Given the description of an element on the screen output the (x, y) to click on. 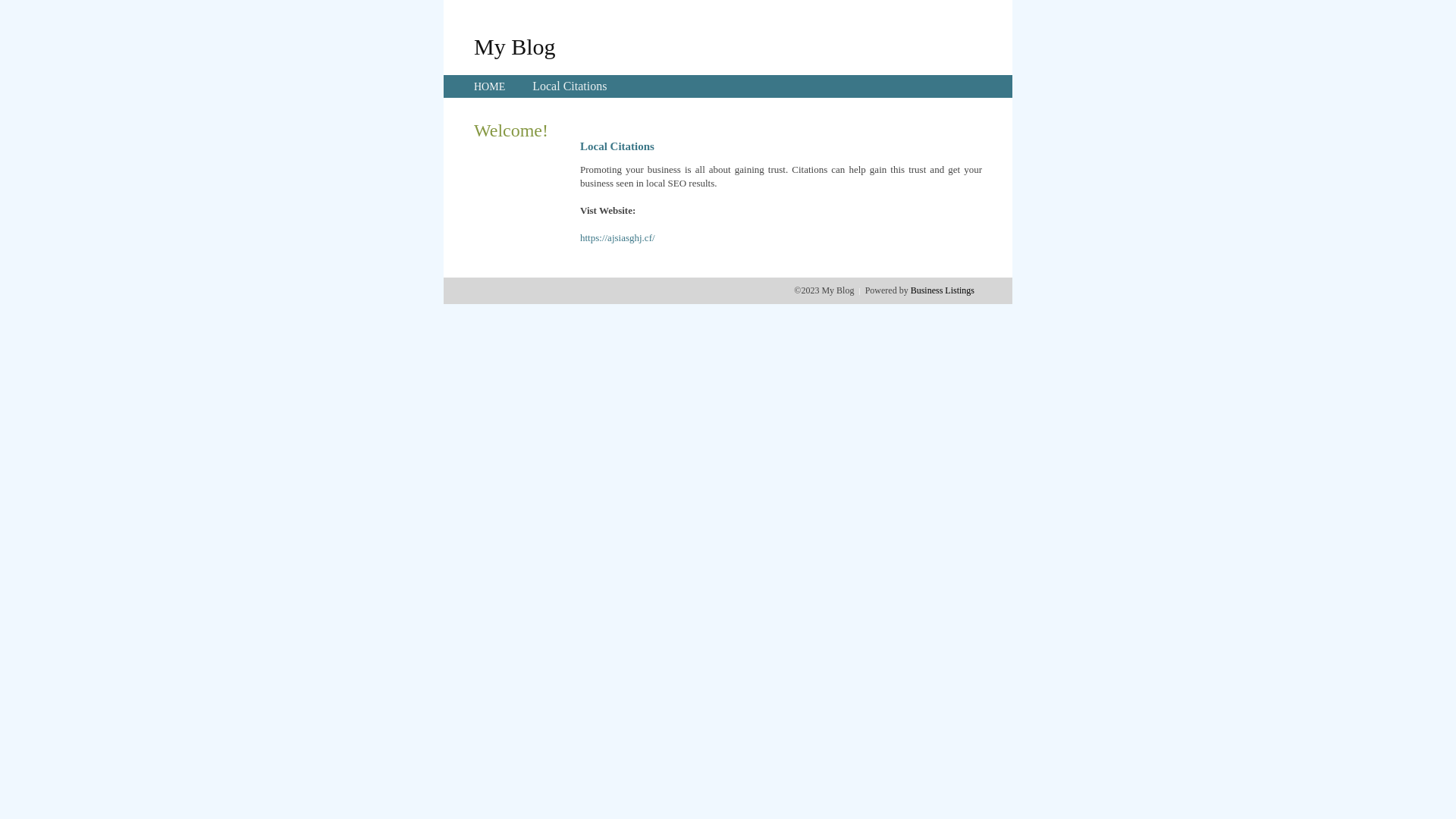
Local Citations Element type: text (569, 85)
HOME Element type: text (489, 86)
My Blog Element type: text (514, 46)
https://ajsiasghj.cf/ Element type: text (617, 237)
Business Listings Element type: text (942, 290)
